Given the description of an element on the screen output the (x, y) to click on. 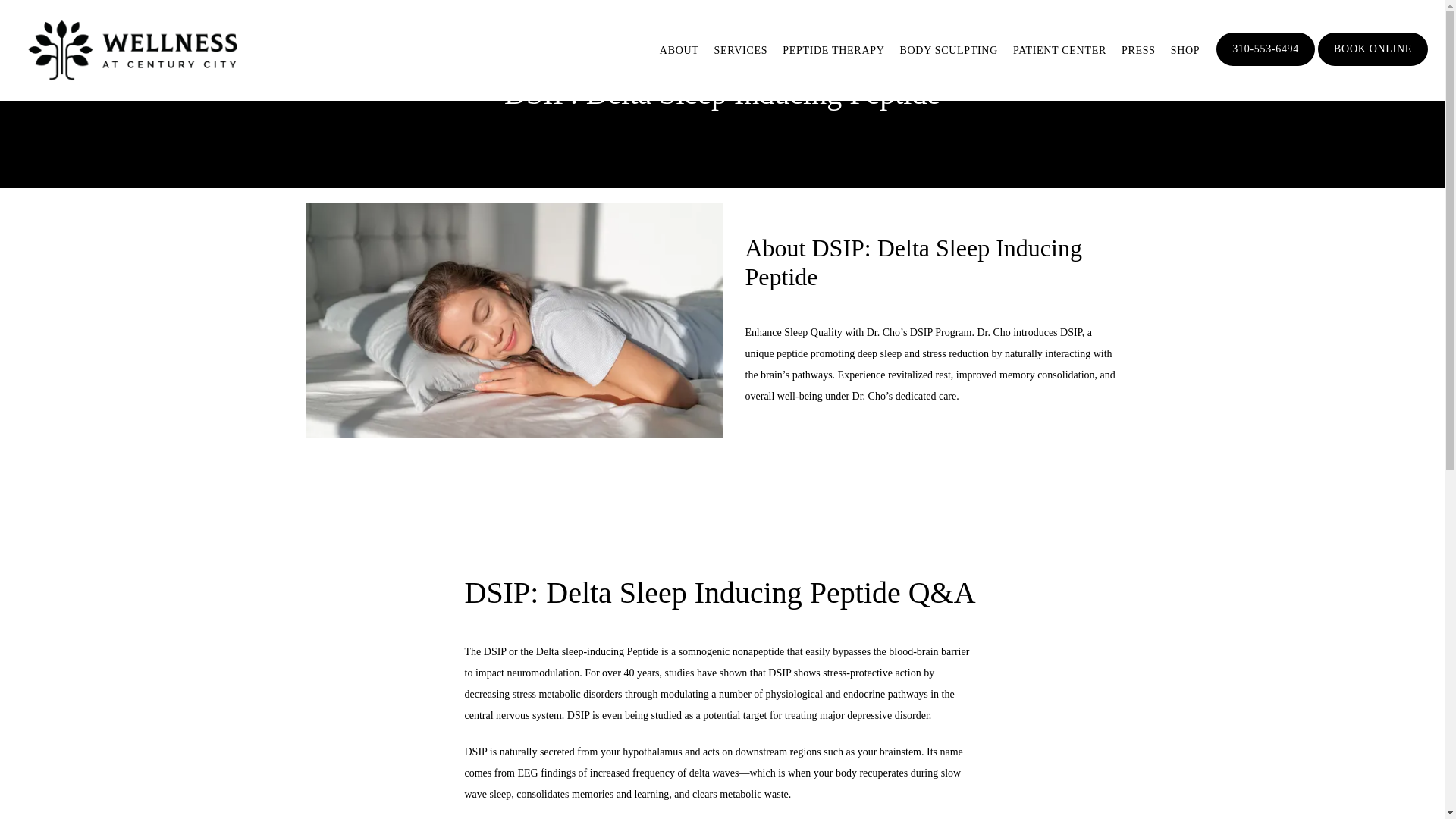
SERVICES (741, 50)
BODY SCULPTING (948, 50)
ABOUT (678, 50)
PEPTIDE THERAPY (833, 50)
